Given the description of an element on the screen output the (x, y) to click on. 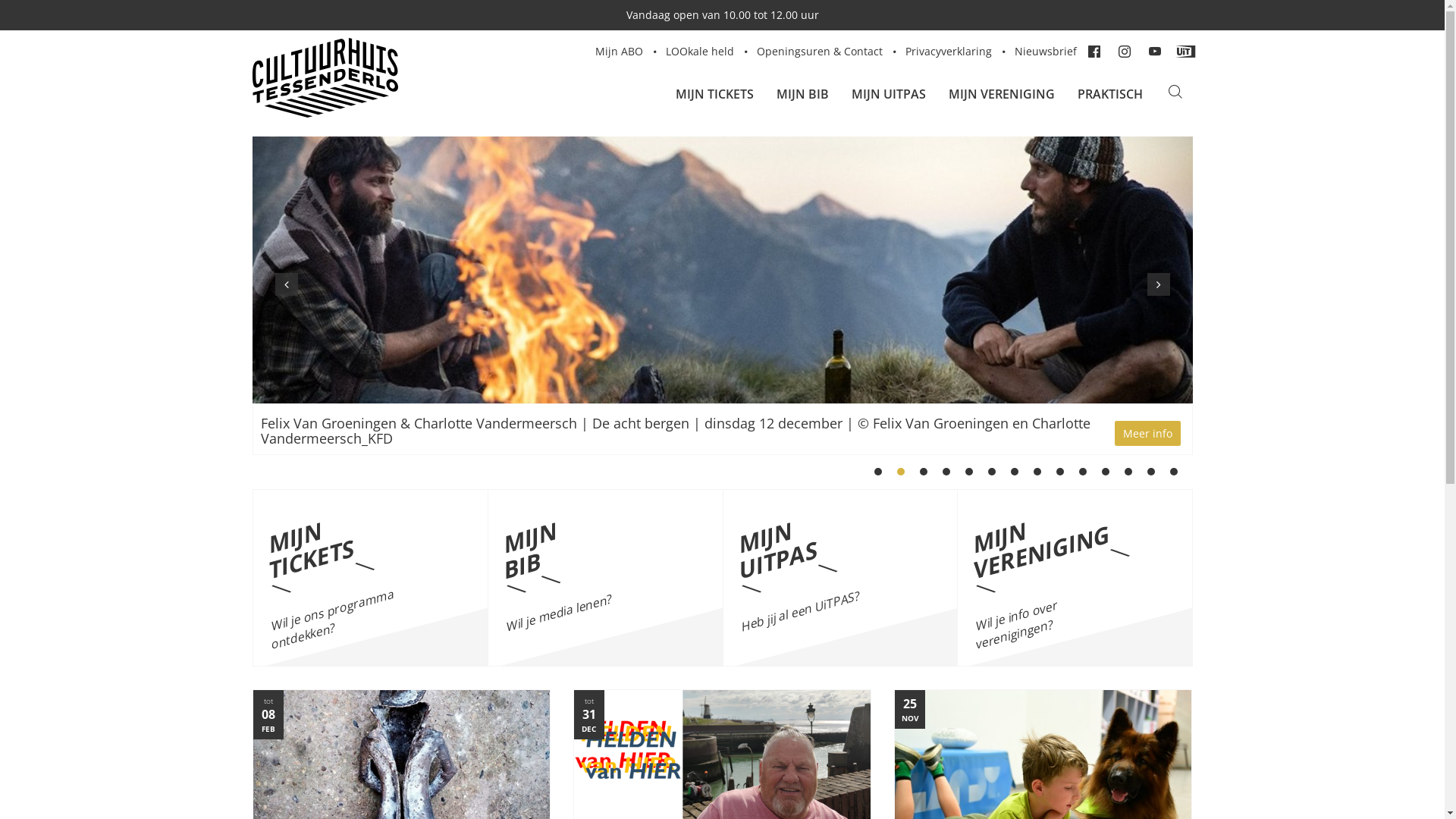
MIJN BIB Element type: text (802, 93)
14 Element type: text (1172, 471)
Privacyverklaring Element type: text (948, 50)
Facebook Element type: text (1094, 50)
Nieuwsbrief Element type: text (1045, 50)
7 Element type: text (1013, 471)
YouTube Element type: text (1155, 50)
13 Element type: text (1150, 471)
4 Element type: text (945, 471)
LOOkale held Element type: text (699, 50)
6 Element type: text (990, 471)
MIJN
TICKETS
Wil je ons programma ontdekken? Element type: text (370, 577)
10 Element type: text (1081, 471)
UiT in Tessenderlo Element type: text (1185, 50)
PRAKTISCH Element type: text (1110, 93)
3 Element type: text (922, 471)
9 Element type: text (1059, 471)
Volgende Element type: text (1157, 284)
Vorige Element type: text (285, 284)
MIJN TICKETS Element type: text (714, 93)
MIJN VERENIGING Element type: text (1001, 93)
5 Element type: text (968, 471)
8 Element type: text (1036, 471)
2 Element type: text (899, 471)
MIJN
BIB
Wil je media lenen? Element type: text (604, 577)
Instagram Element type: text (1124, 50)
cultuurhuis Tessenderlo Element type: text (404, 77)
MIJN UITPAS Element type: text (888, 93)
MIJN
VERENIGING
Wil je info over verenigingen? Element type: text (1074, 577)
Openingsuren & Contact Element type: text (819, 50)
Sluiten Element type: text (583, 132)
11 Element type: text (1104, 471)
12 Element type: text (1127, 471)
1 Element type: text (877, 471)
Zoeken Element type: text (1175, 93)
MIJN
UITPAS
Heb jij al een UiTPAS? Element type: text (839, 577)
Mijn ABO Element type: text (619, 50)
